Given the description of an element on the screen output the (x, y) to click on. 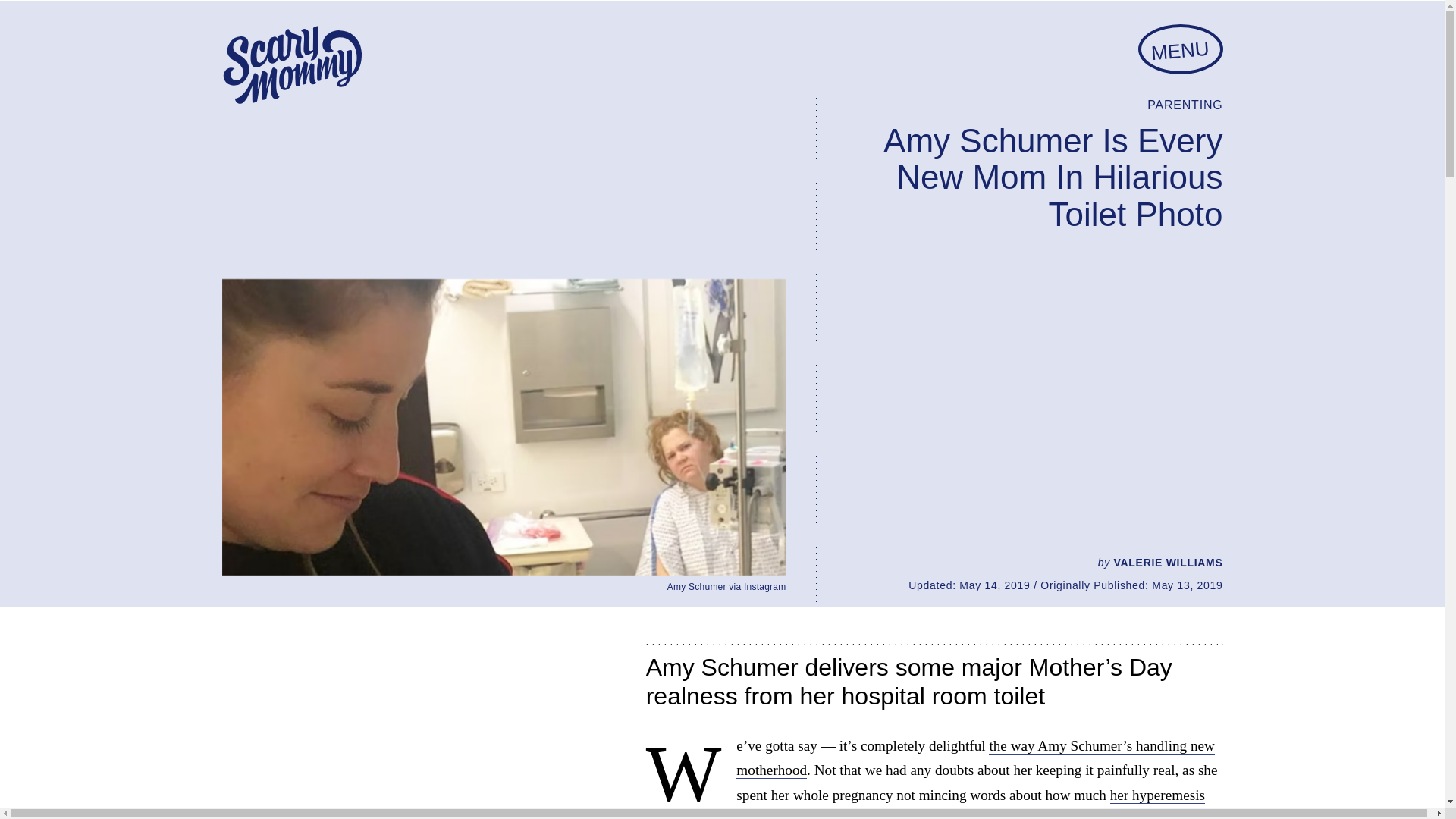
shared a video of herself throwing up (1084, 815)
Scary Mommy (291, 64)
her hyperemesis gravidarum was kicking her butt (925, 803)
